Given the description of an element on the screen output the (x, y) to click on. 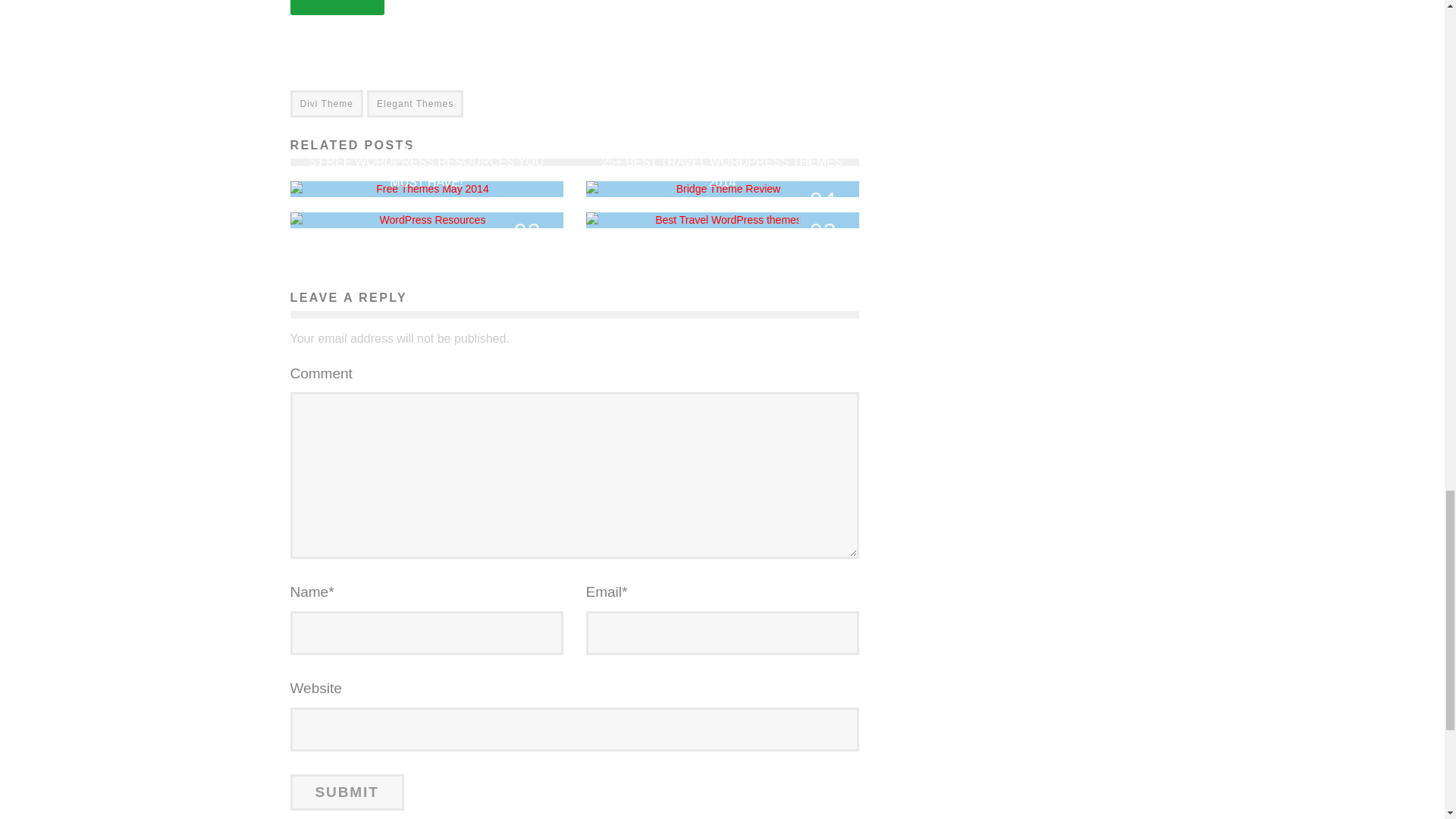
Submit (346, 791)
